Given the description of an element on the screen output the (x, y) to click on. 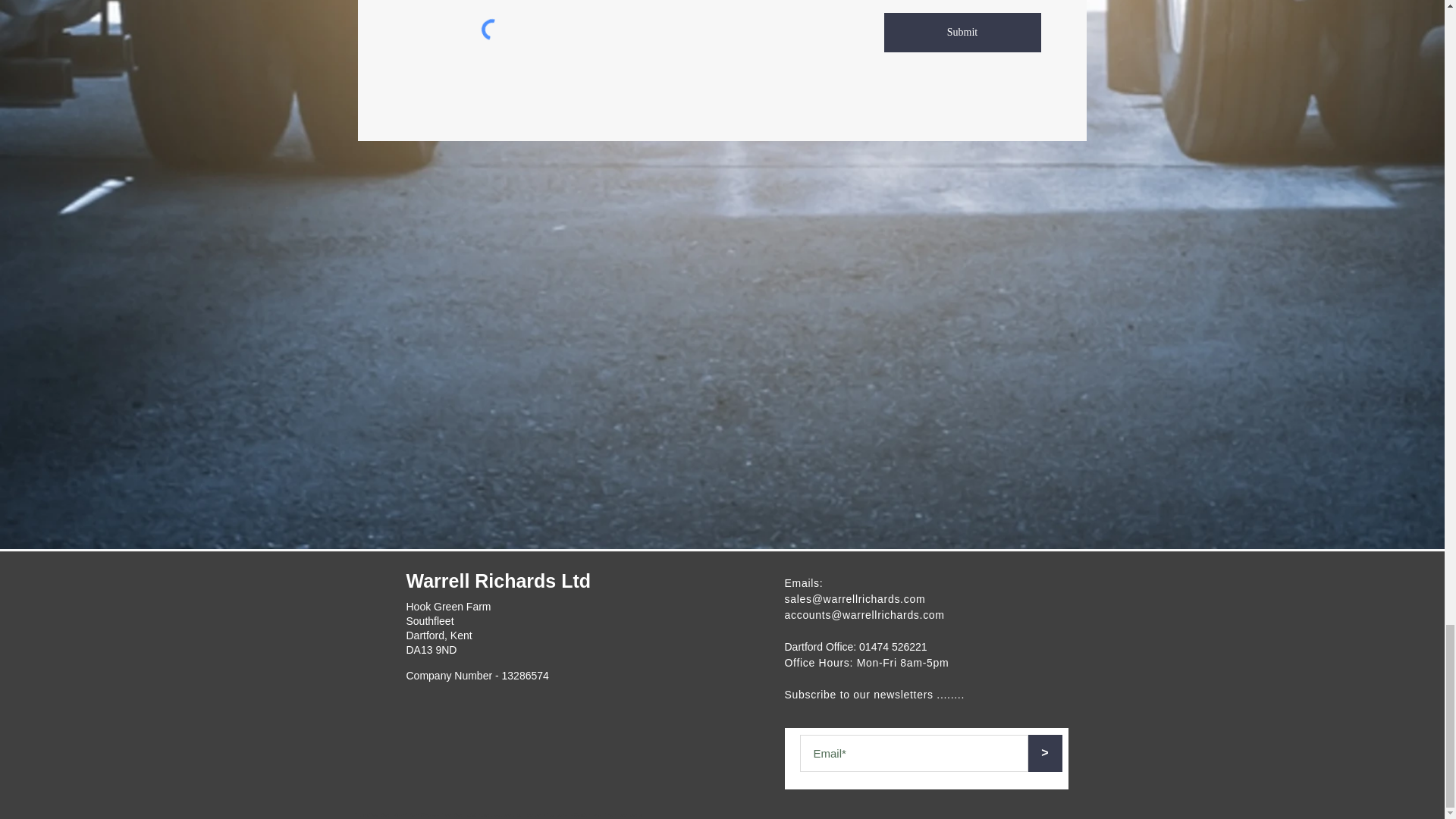
01474 526221 (893, 646)
Submit (962, 32)
